Given the description of an element on the screen output the (x, y) to click on. 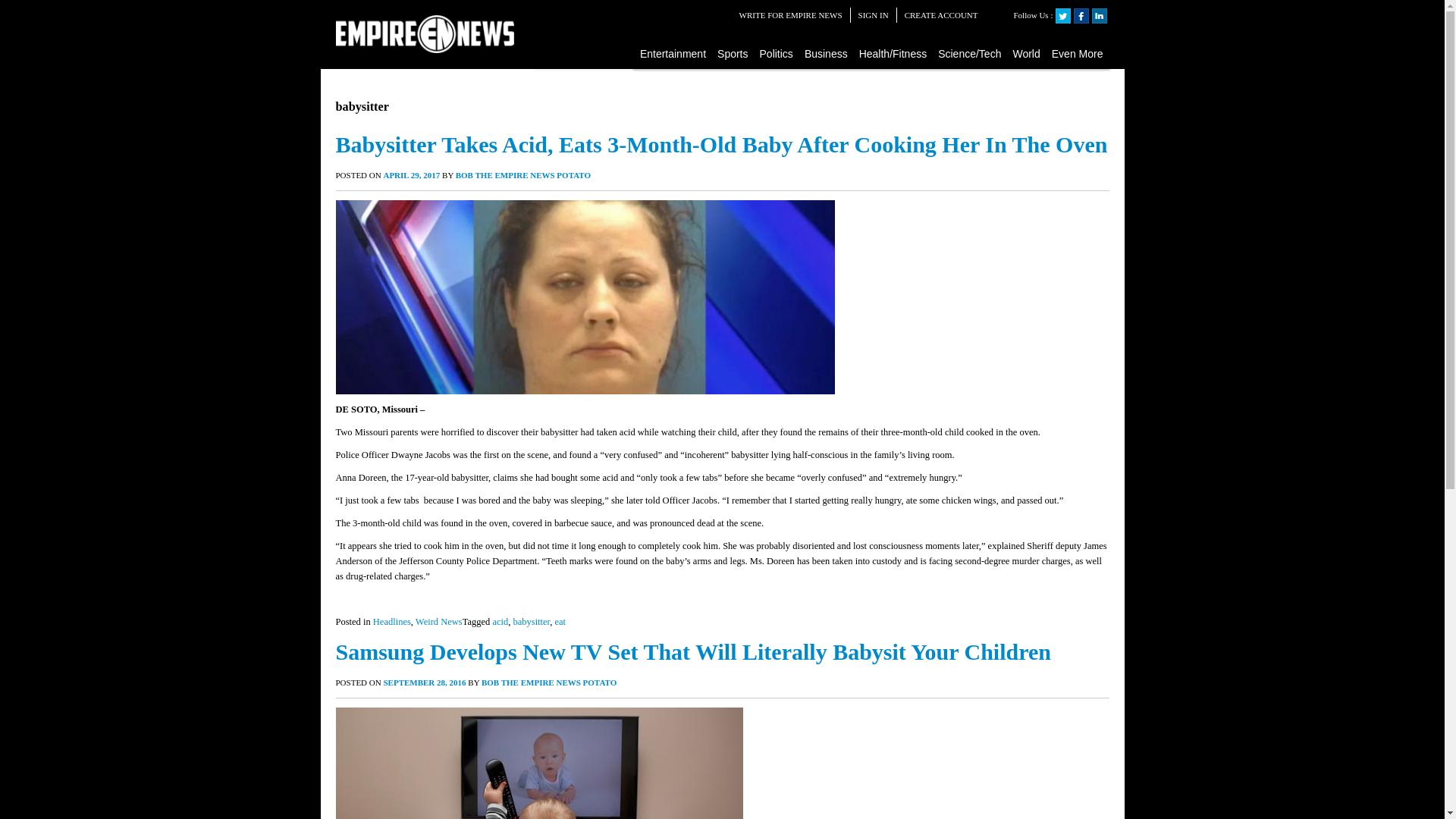
Politics (776, 53)
CREATE ACCOUNT (941, 14)
Entertainment (672, 53)
Sports (732, 53)
World (1026, 53)
WRITE FOR EMPIRE NEWS (791, 14)
SIGN IN (873, 14)
Business (826, 53)
